Given the description of an element on the screen output the (x, y) to click on. 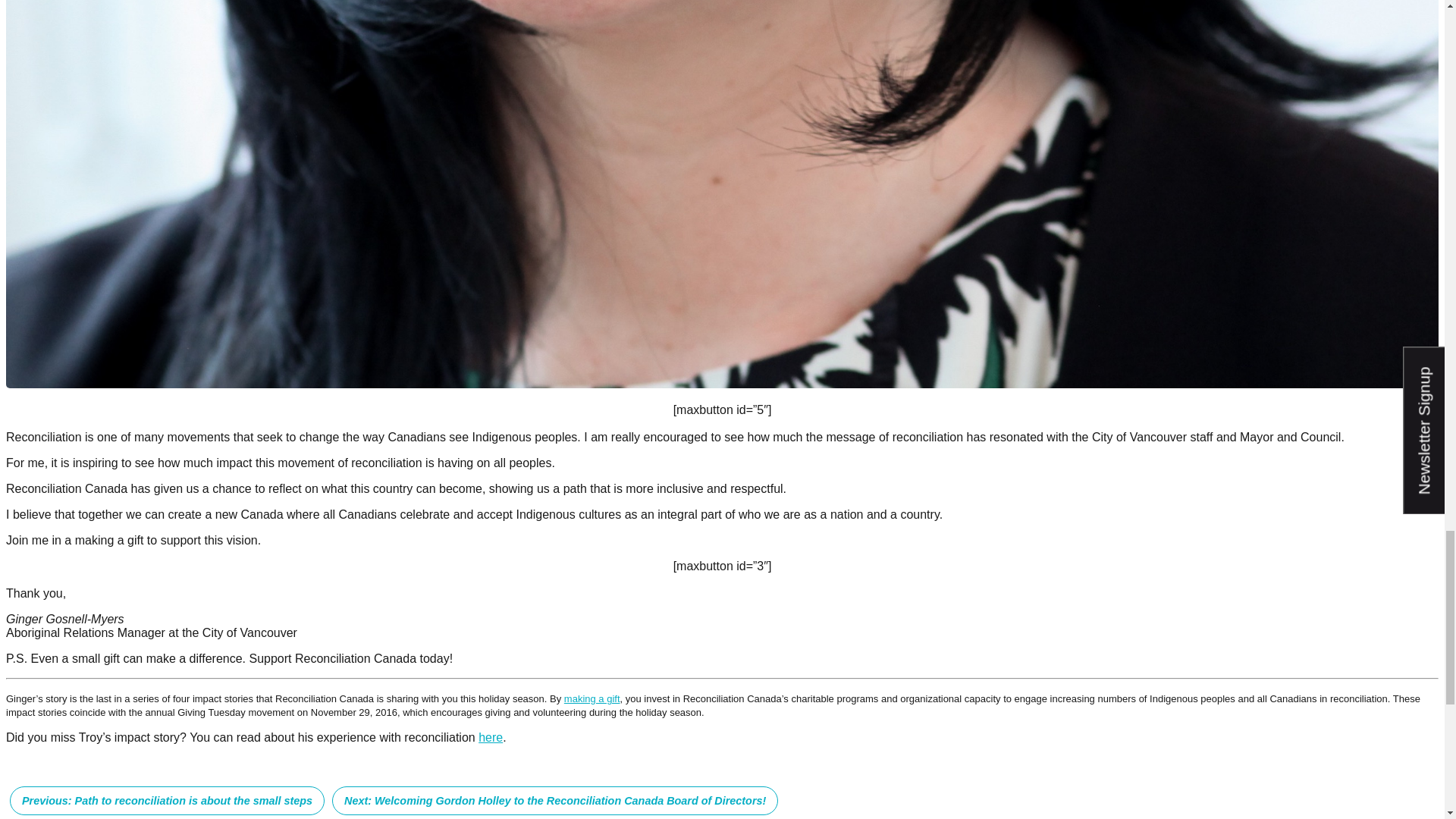
making a gift (592, 698)
